Given the description of an element on the screen output the (x, y) to click on. 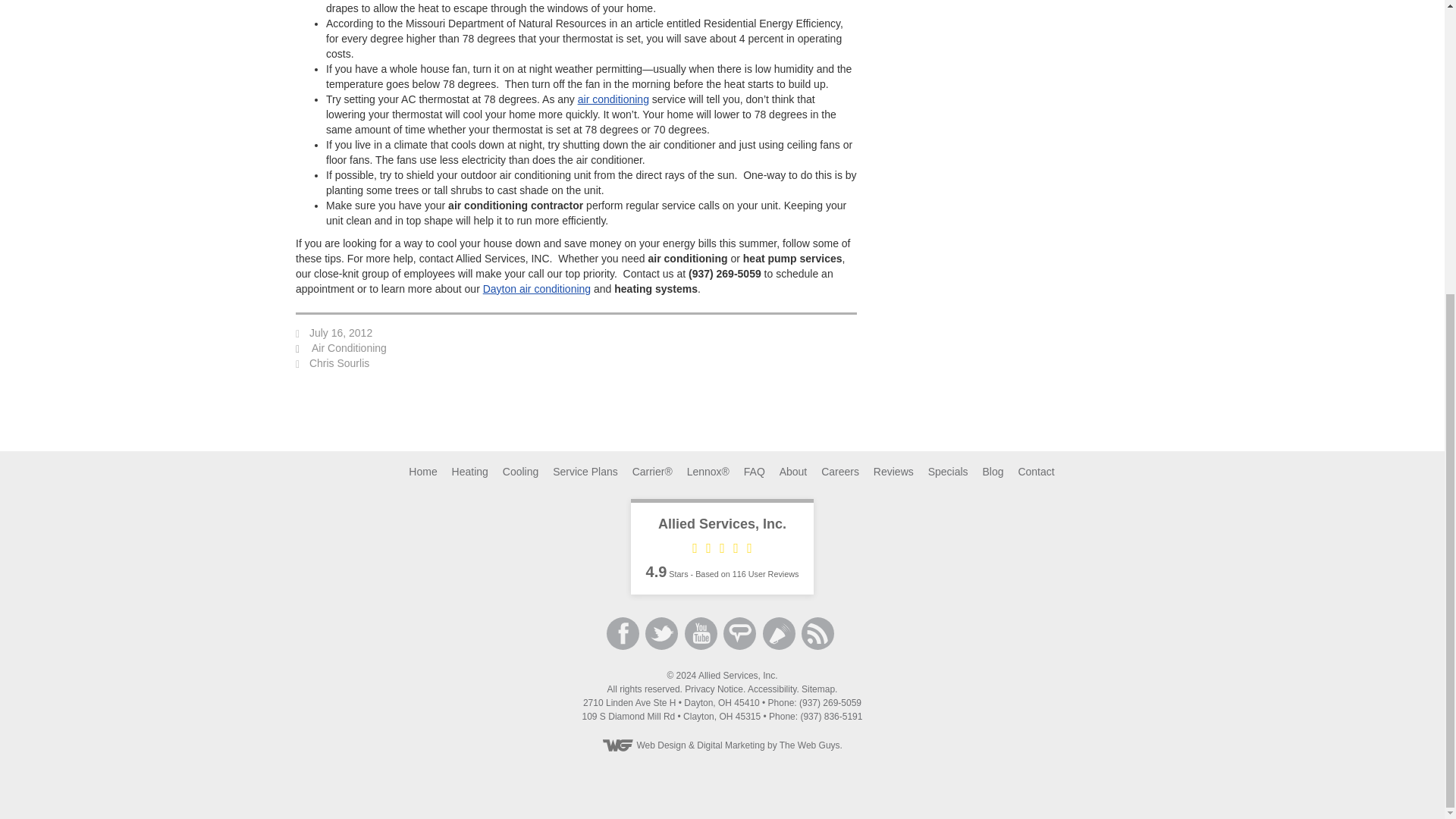
Permalink to Keep Your Cool This Summer (340, 332)
View all posts by Chris Sourlis (338, 363)
